Given the description of an element on the screen output the (x, y) to click on. 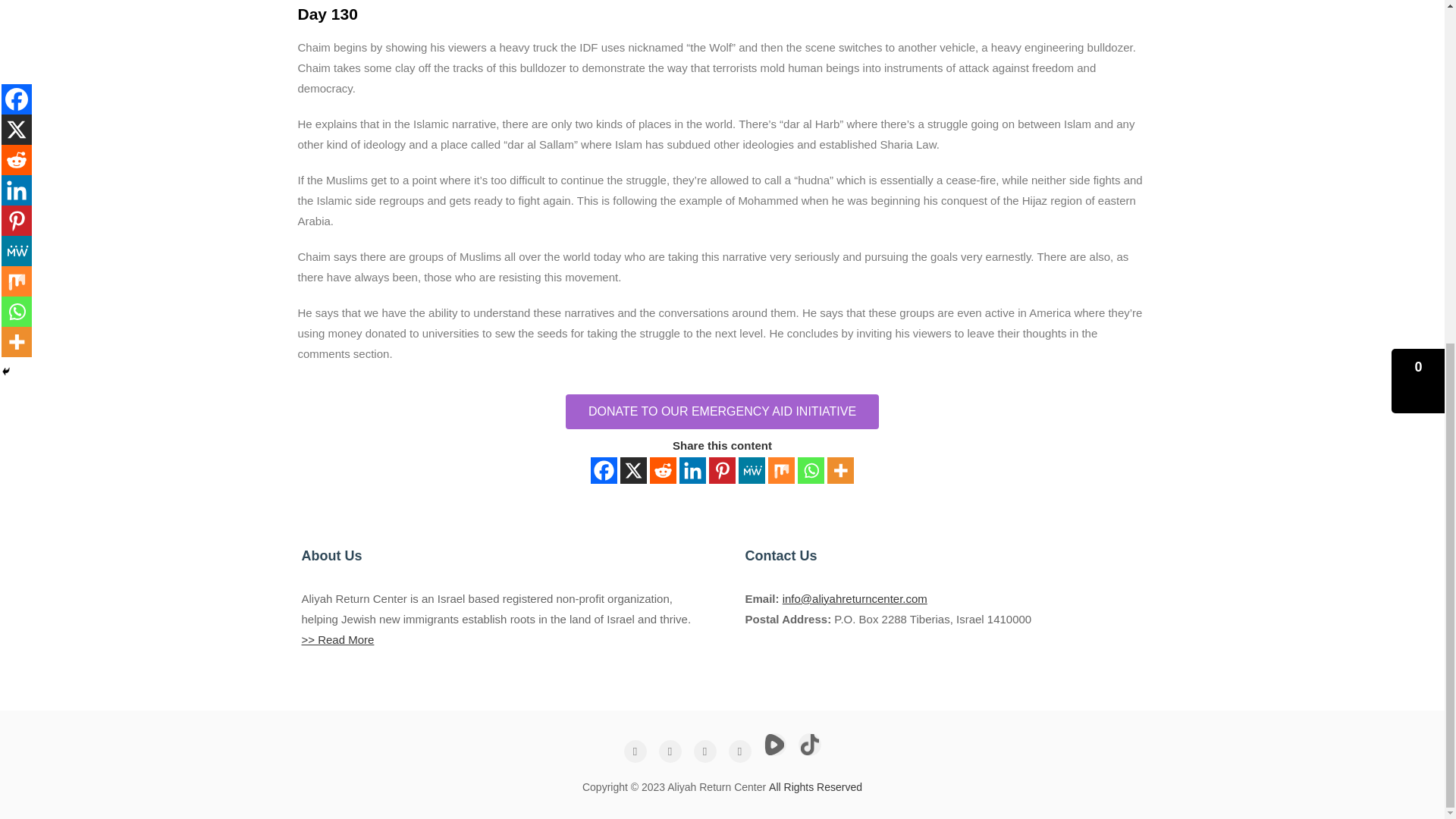
Facebook (604, 470)
Mix (781, 470)
Linkedin (692, 470)
Whatsapp (810, 470)
Reddit (663, 470)
X (633, 470)
MeWe (751, 470)
More (840, 470)
Pinterest (722, 470)
